Given the description of an element on the screen output the (x, y) to click on. 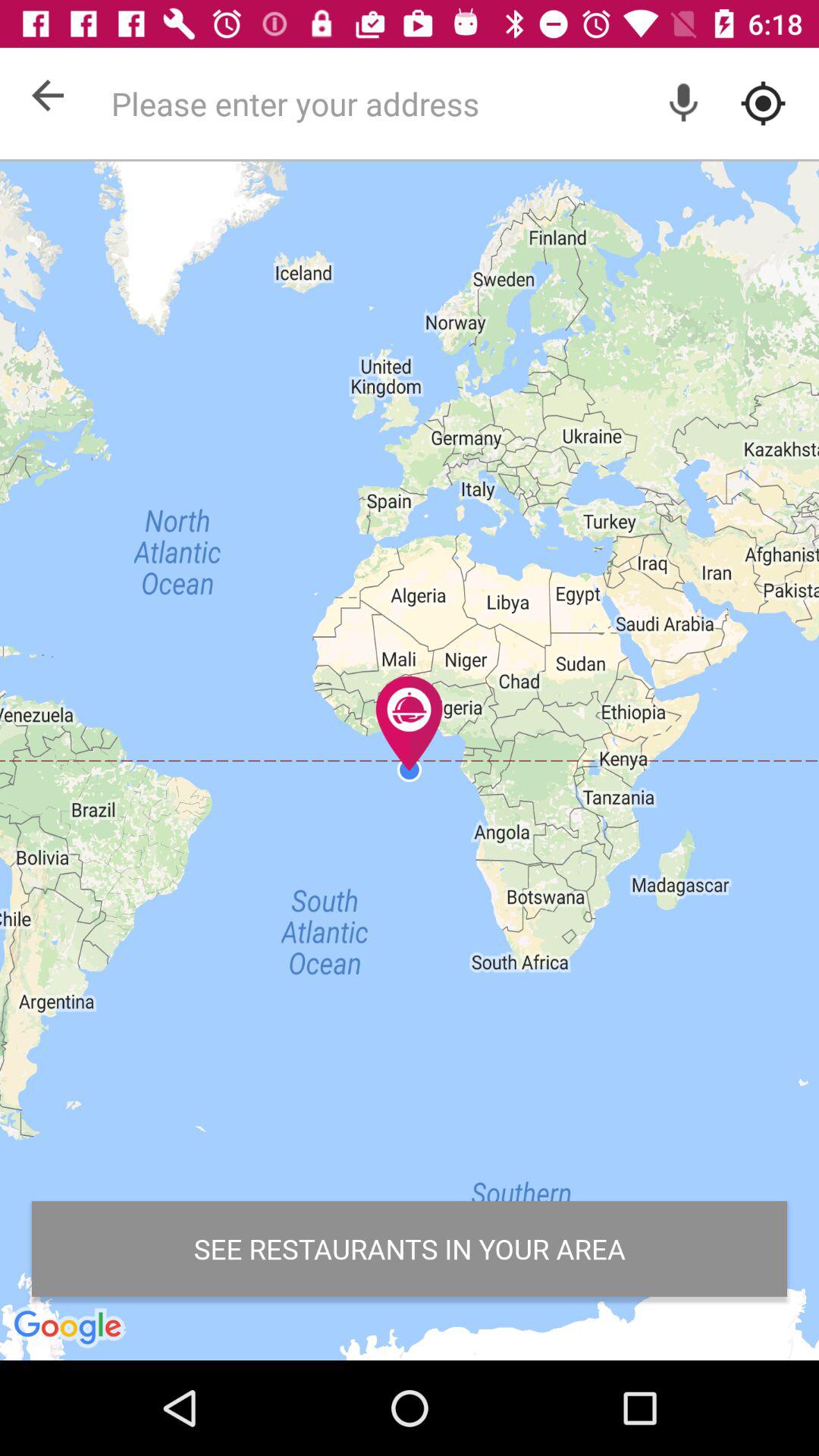
launch icon at the top left corner (47, 95)
